Given the description of an element on the screen output the (x, y) to click on. 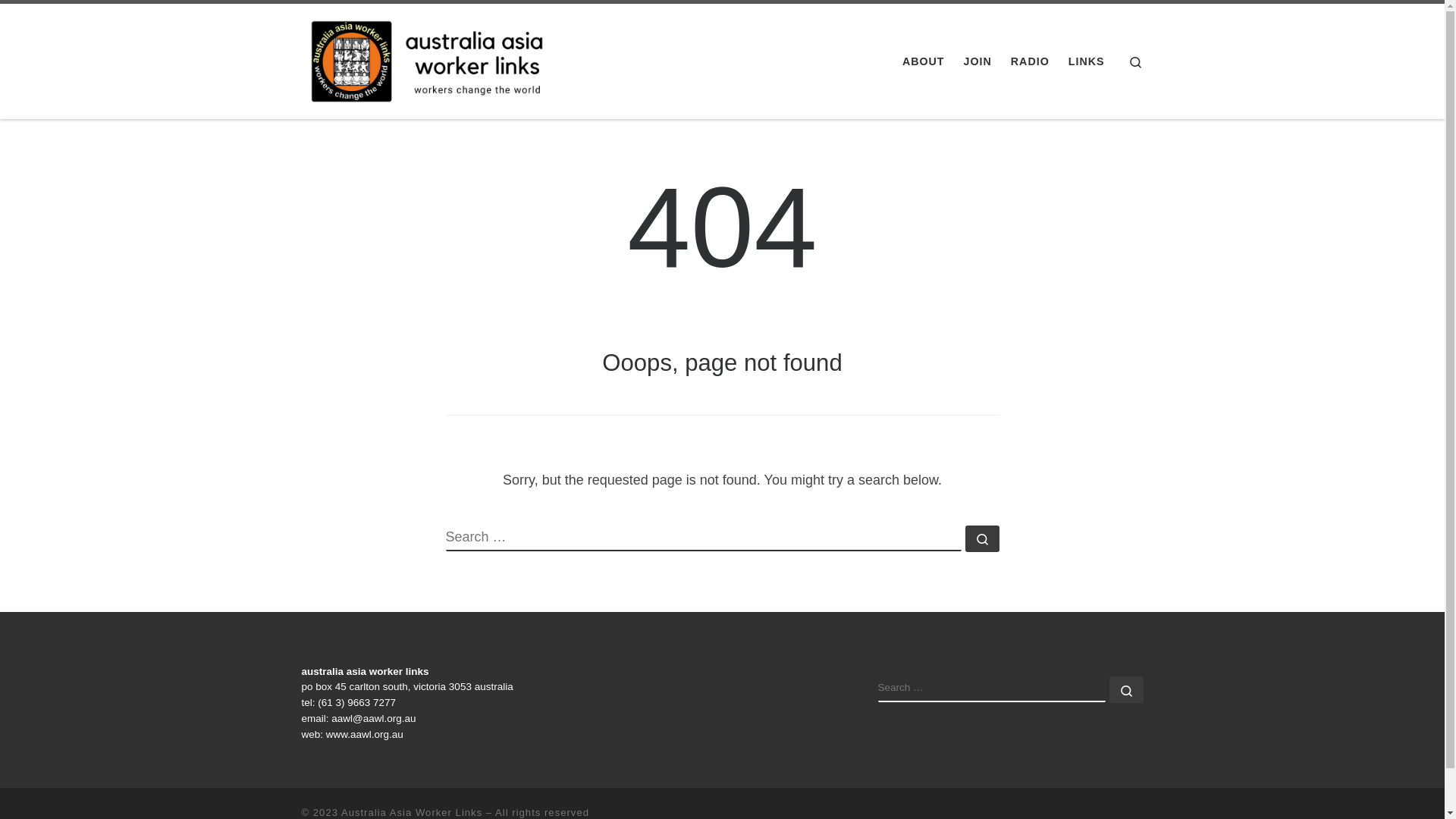
Australia Asia Worker Links Element type: text (411, 812)
JOIN Element type: text (977, 61)
Skip to content Element type: text (61, 20)
Search Element type: text (1135, 61)
LINKS Element type: text (1085, 61)
ABOUT Element type: text (923, 61)
RADIO Element type: text (1030, 61)
